Given the description of an element on the screen output the (x, y) to click on. 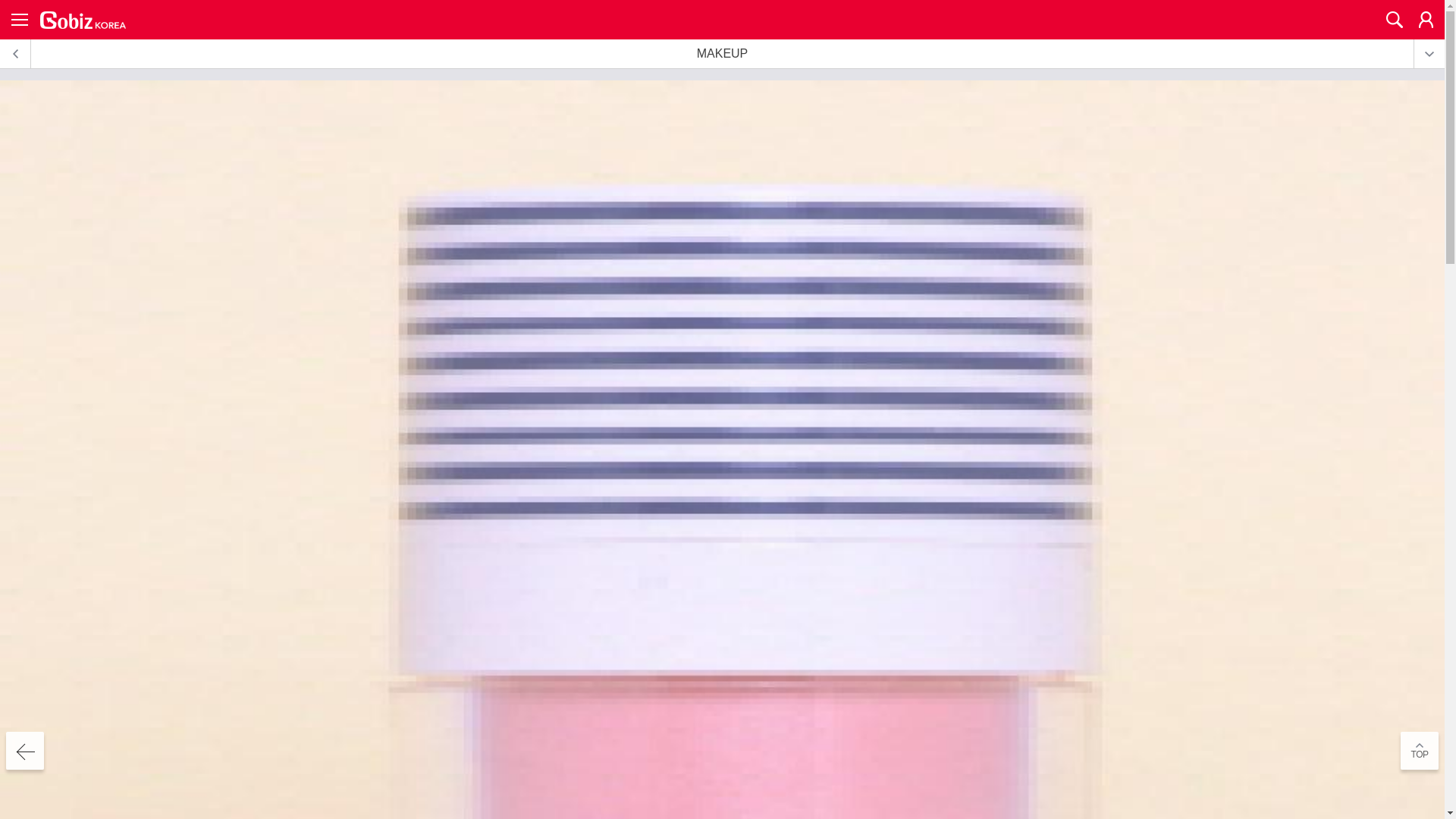
GobizKorea Main (82, 19)
GobizKorea.com (82, 19)
Category (19, 19)
